Given the description of an element on the screen output the (x, y) to click on. 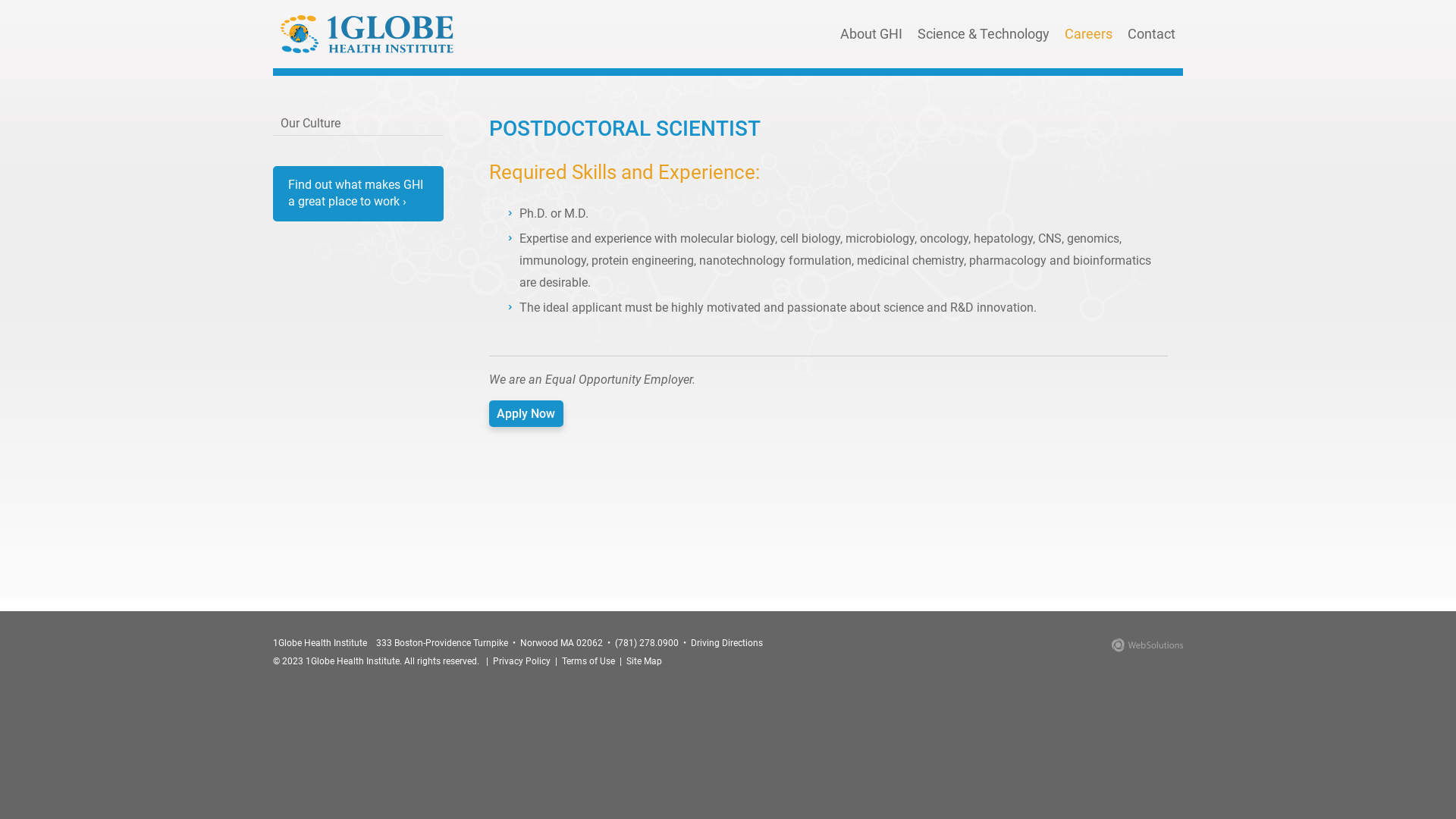
Science & Technology Element type: text (983, 34)
Careers Element type: text (1088, 34)
Privacy Policy Element type: text (521, 660)
Our Culture Element type: text (358, 123)
About GHI Element type: text (871, 34)
Contact Element type: text (1151, 34)
Terms of Use Element type: text (588, 660)
Apply Now Element type: text (526, 413)
Driving Directions Element type: text (726, 642)
Site Map Element type: text (644, 660)
1 Globe Health Institute Element type: hover (366, 34)
